Given the description of an element on the screen output the (x, y) to click on. 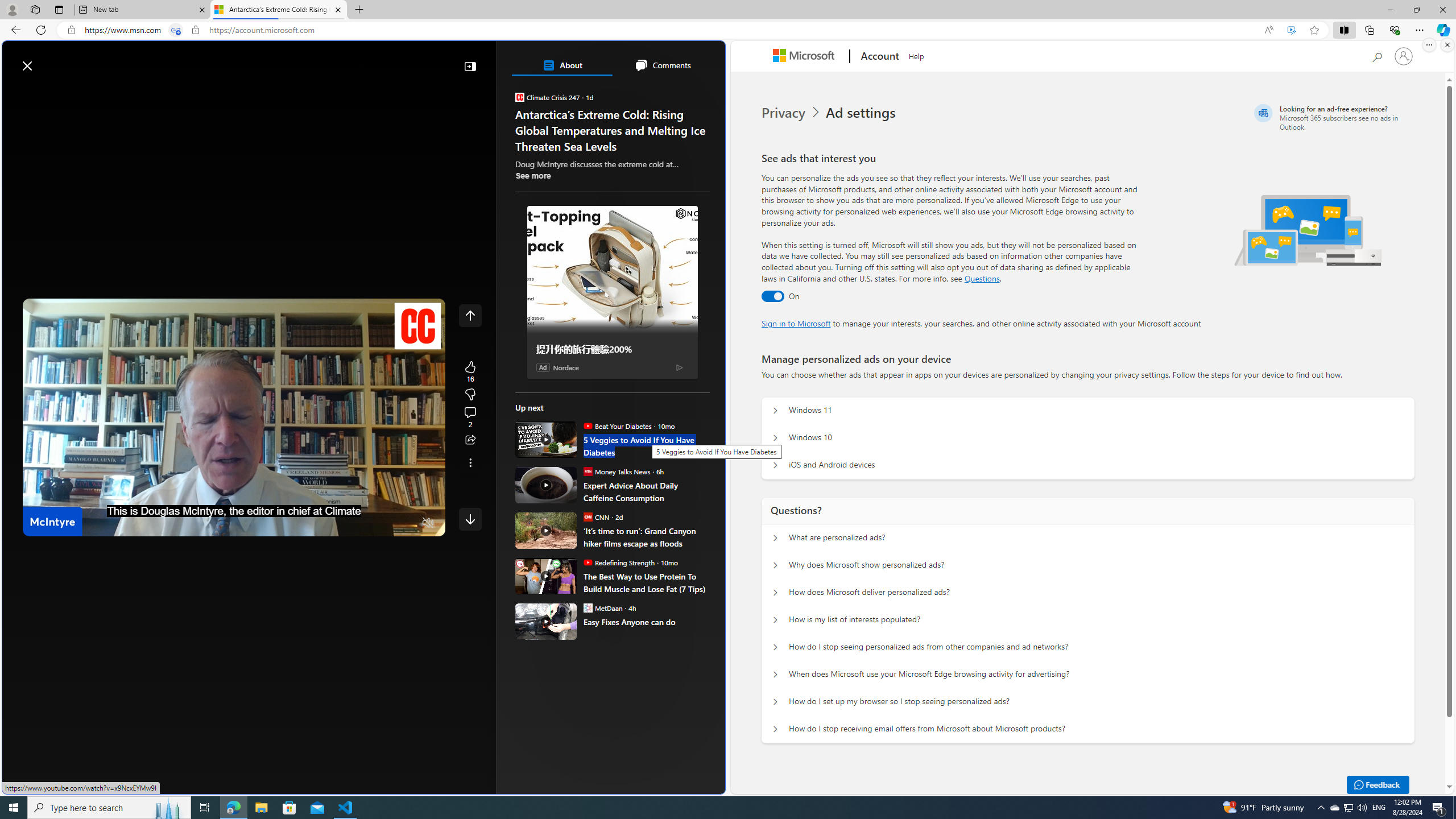
More like this16Fewer like thisView comments (469, 394)
Class: button-glyph (16, 92)
About (561, 64)
Sign in to Microsoft (796, 323)
Web search (161, 60)
View comments 2 Comment (469, 417)
5 Veggies to Avoid If You Have Diabetes (545, 438)
Expert Advice About Daily Caffeine Consumption (646, 491)
